Given the description of an element on the screen output the (x, y) to click on. 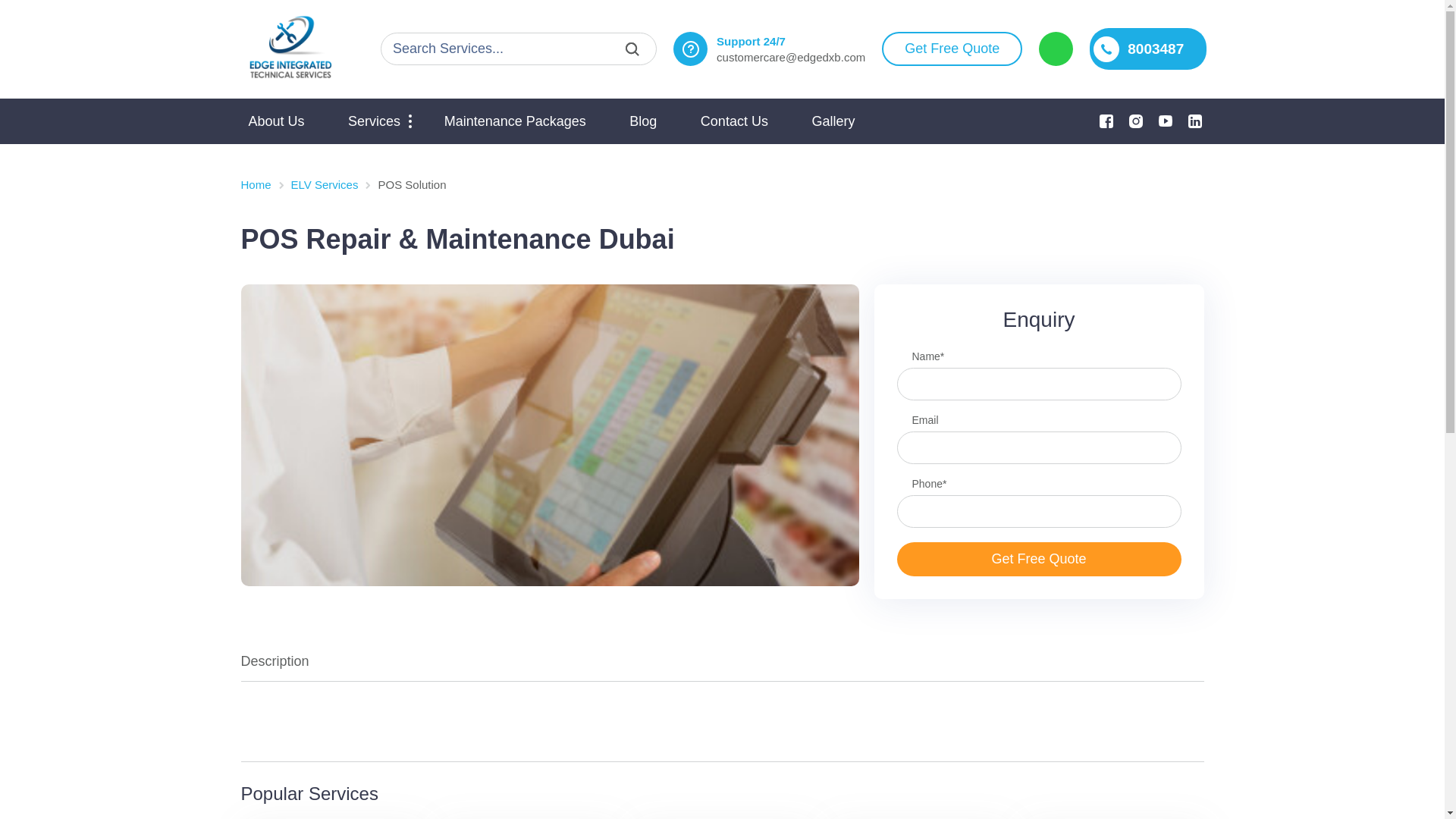
About Us (277, 121)
Maintenance Packages (515, 121)
8003487 (1148, 48)
Get Free Quote (952, 48)
Edge DXB (290, 49)
